Given the description of an element on the screen output the (x, y) to click on. 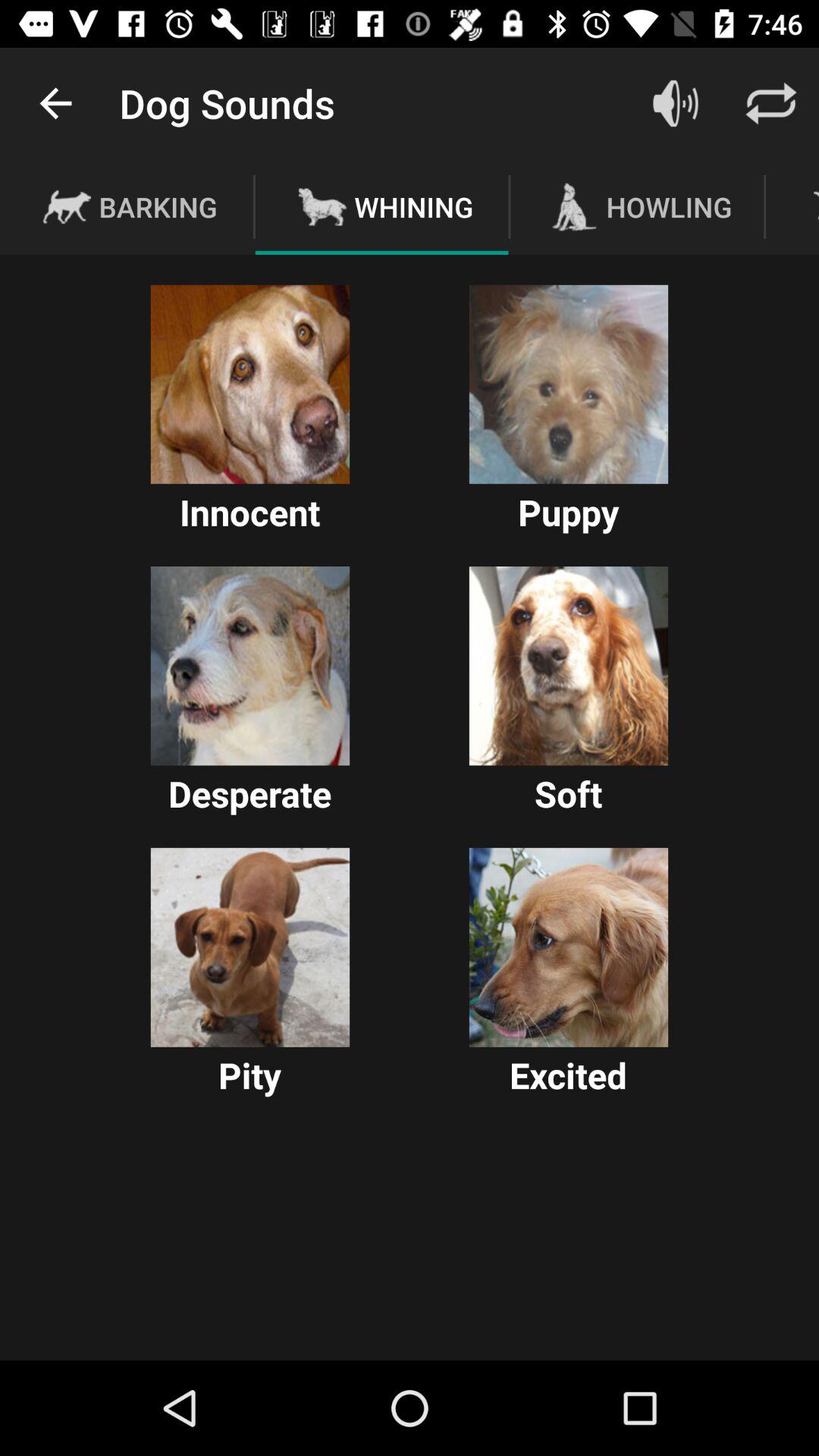
hear excited bark (568, 947)
